Given the description of an element on the screen output the (x, y) to click on. 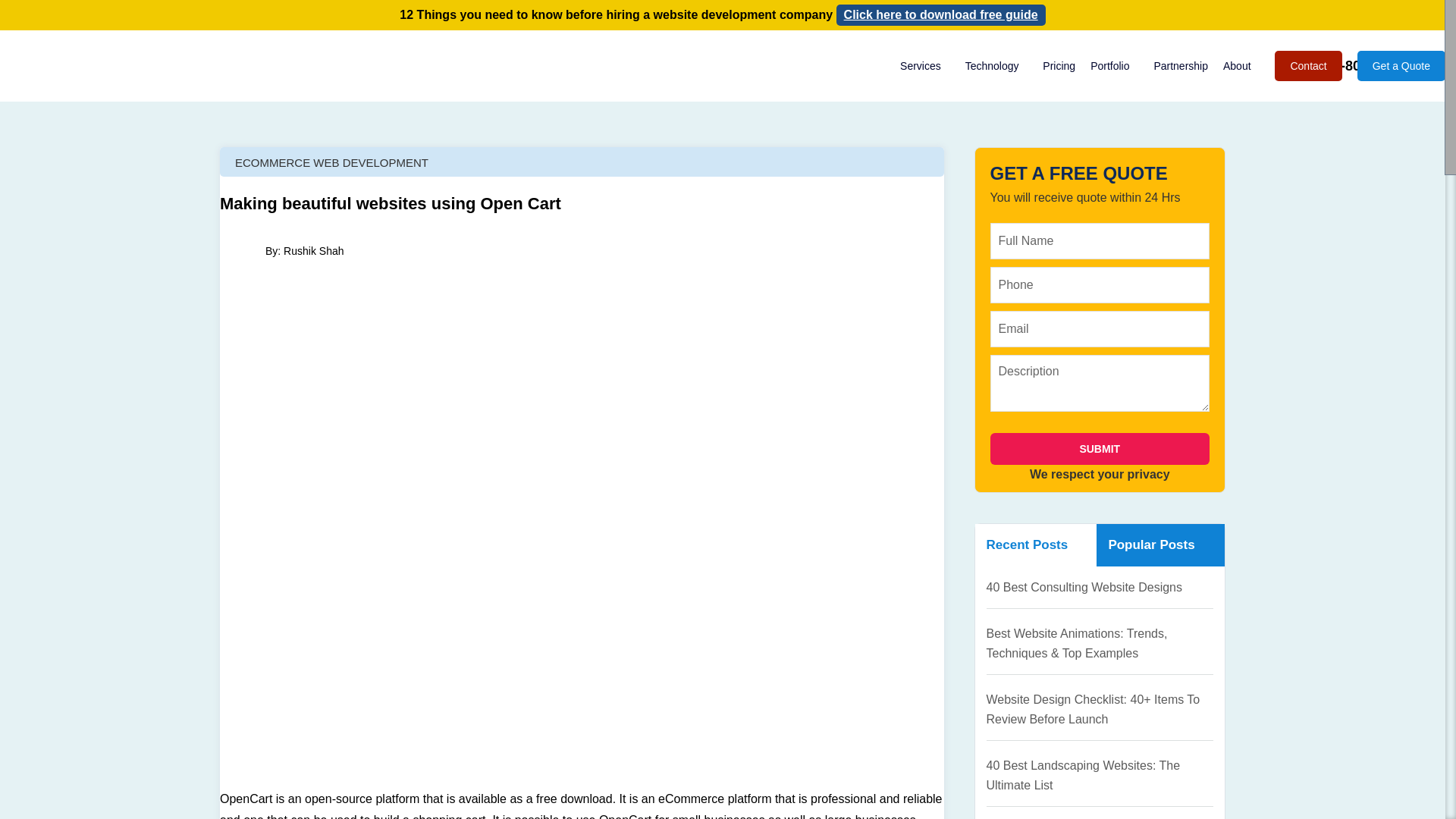
Submit (1099, 449)
Alakmalak Whatsapp (1301, 65)
Technology (996, 65)
Alakmalak Technologies - Your Reliable Growth Partner (84, 66)
Click here to download free guide (940, 14)
Services (925, 65)
